Given the description of an element on the screen output the (x, y) to click on. 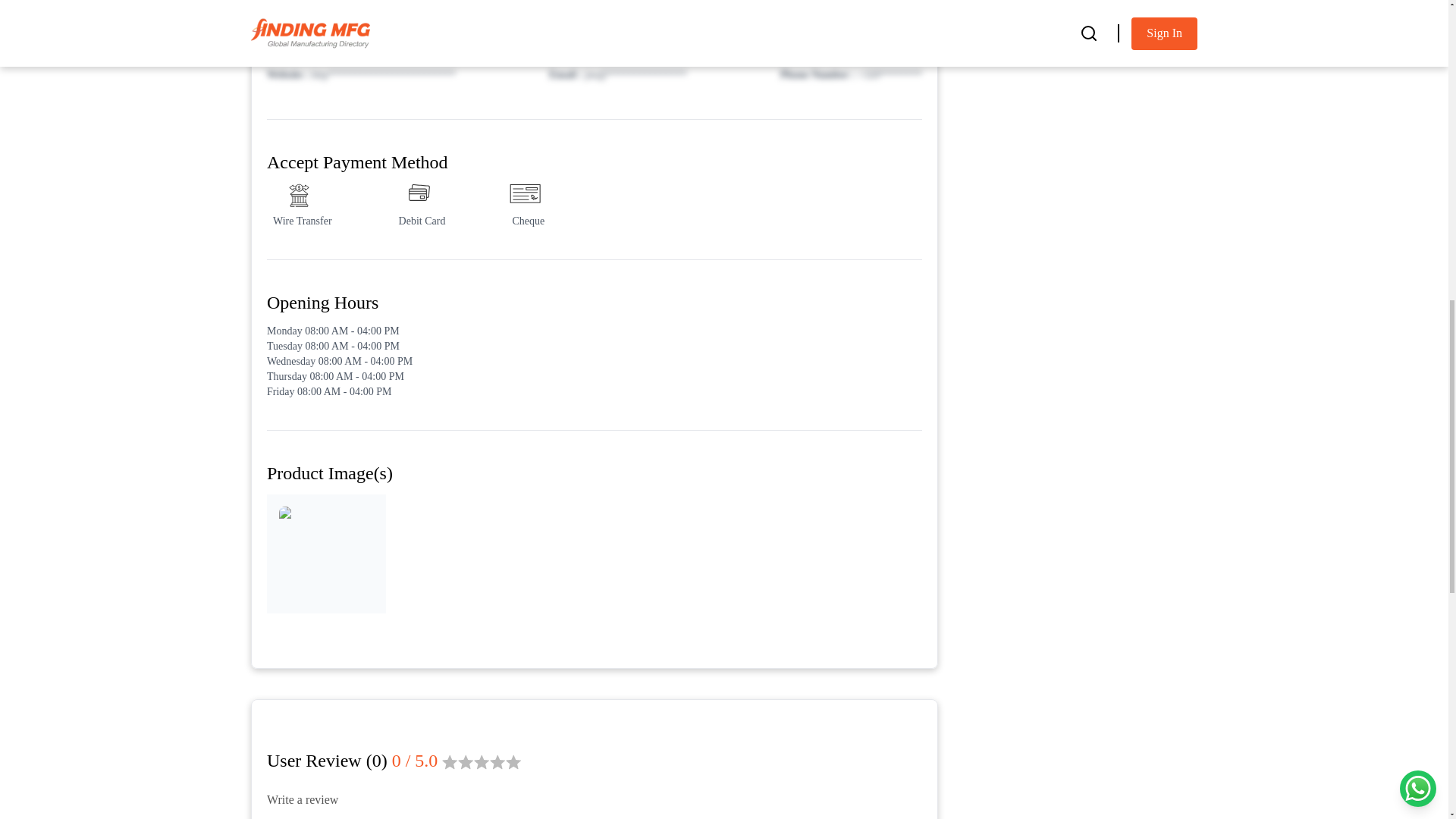
Login To View Contact Info (593, 38)
